Given the description of an element on the screen output the (x, y) to click on. 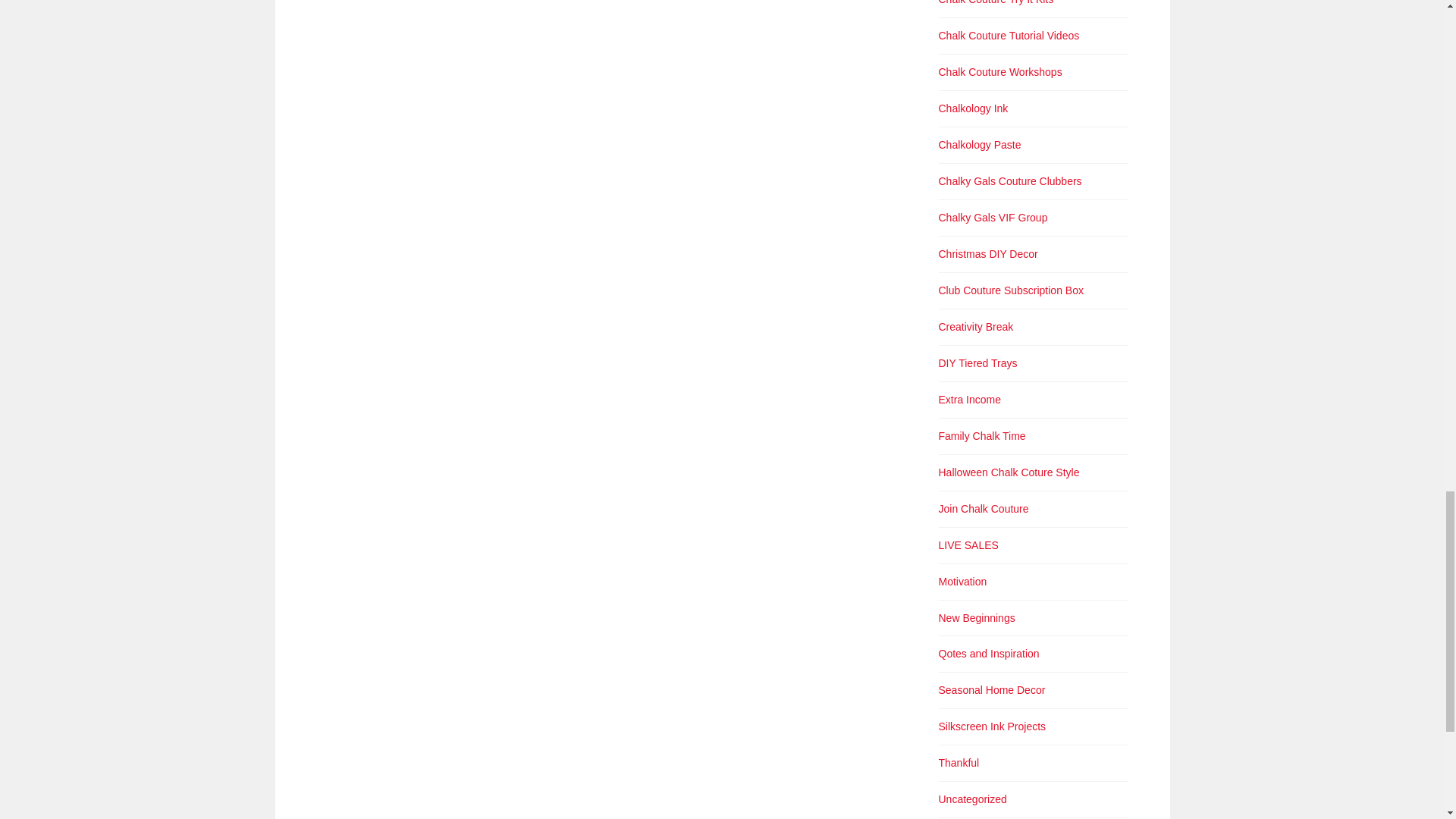
Chalk Couture Try It Kits (996, 2)
